Given the description of an element on the screen output the (x, y) to click on. 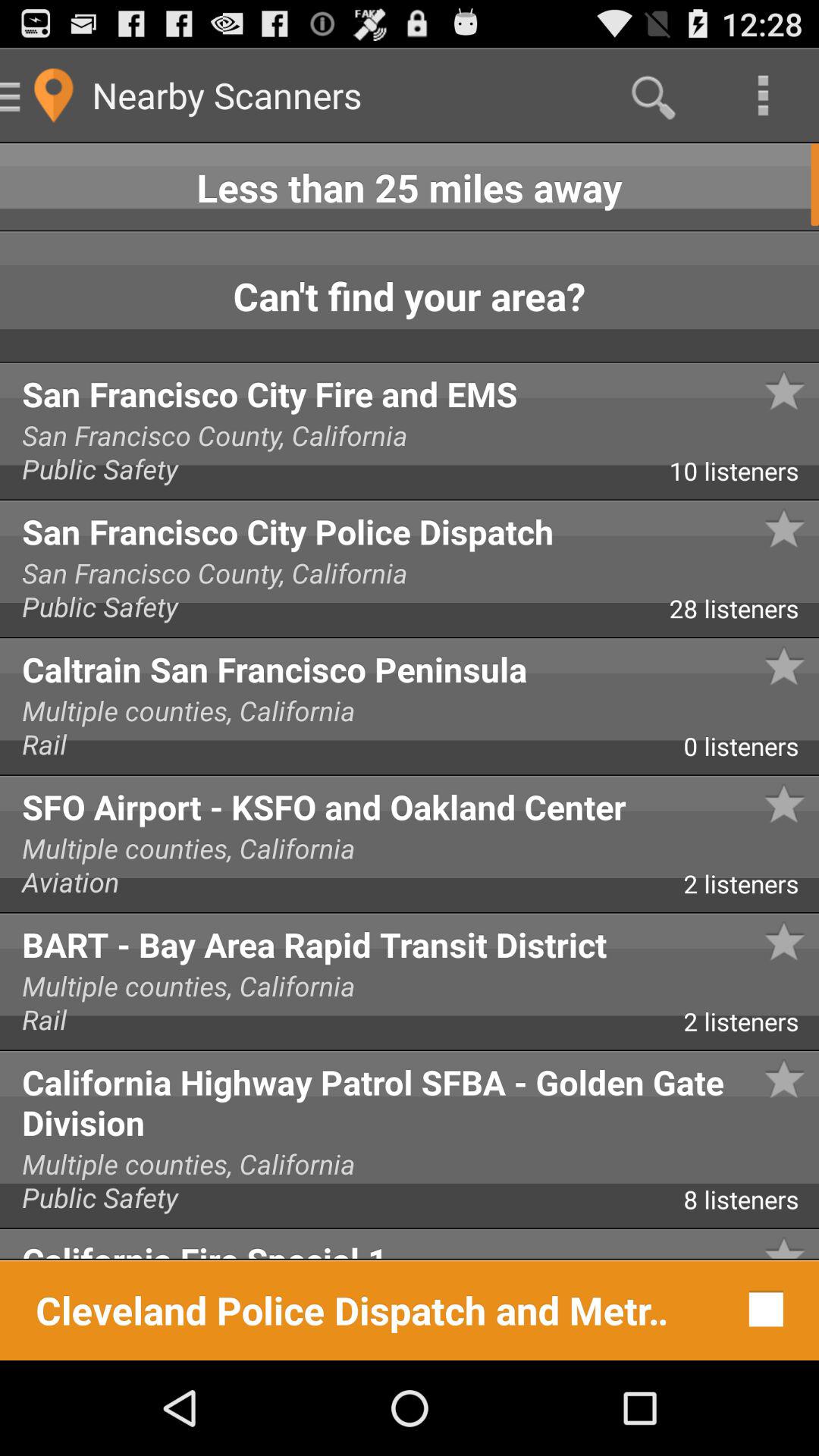
select item to the right of the rail item (751, 751)
